Given the description of an element on the screen output the (x, y) to click on. 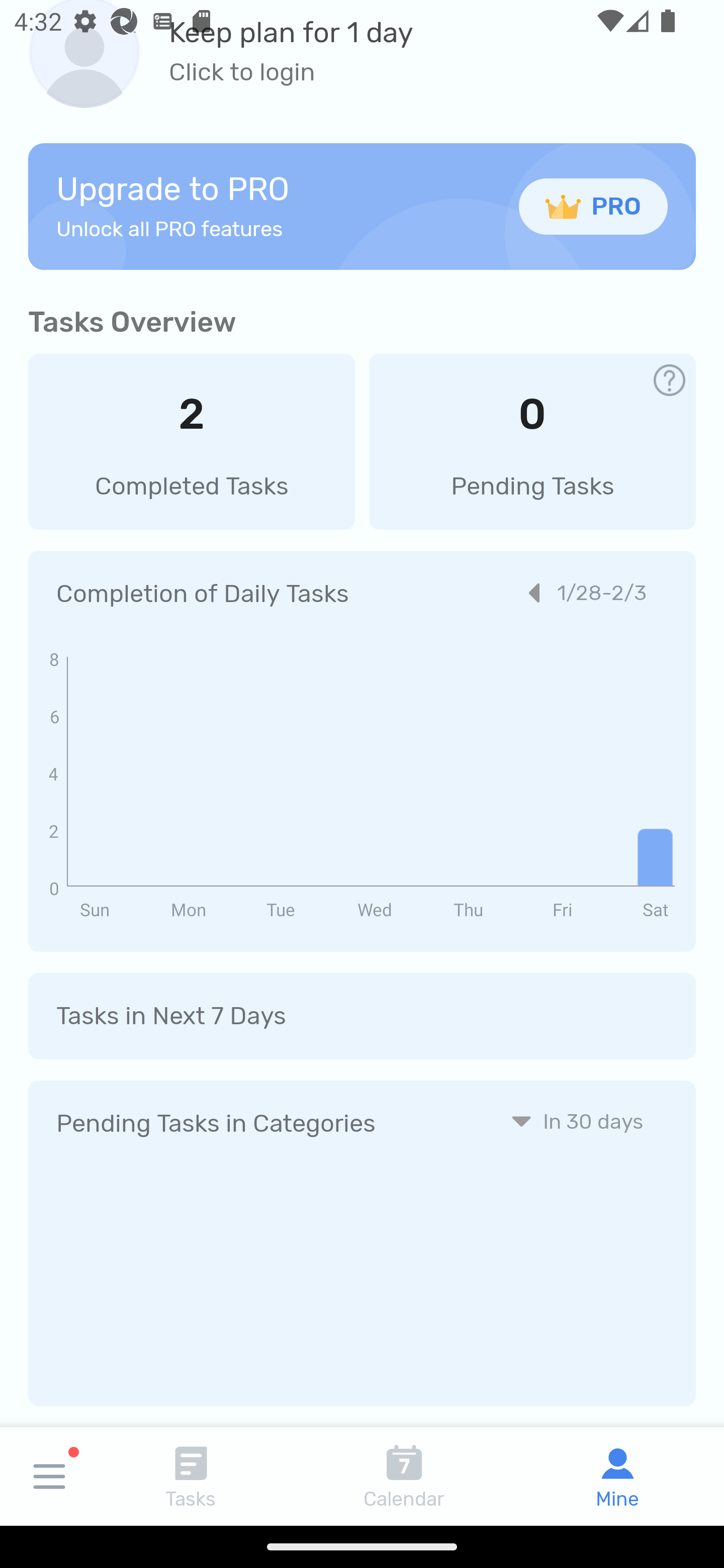
Click to login (291, 72)
Upgrade to PRO Unlock all PRO features PRO (361, 205)
In 30 days (577, 1120)
Tasks (190, 1475)
Calendar (404, 1475)
Mine (617, 1475)
